Given the description of an element on the screen output the (x, y) to click on. 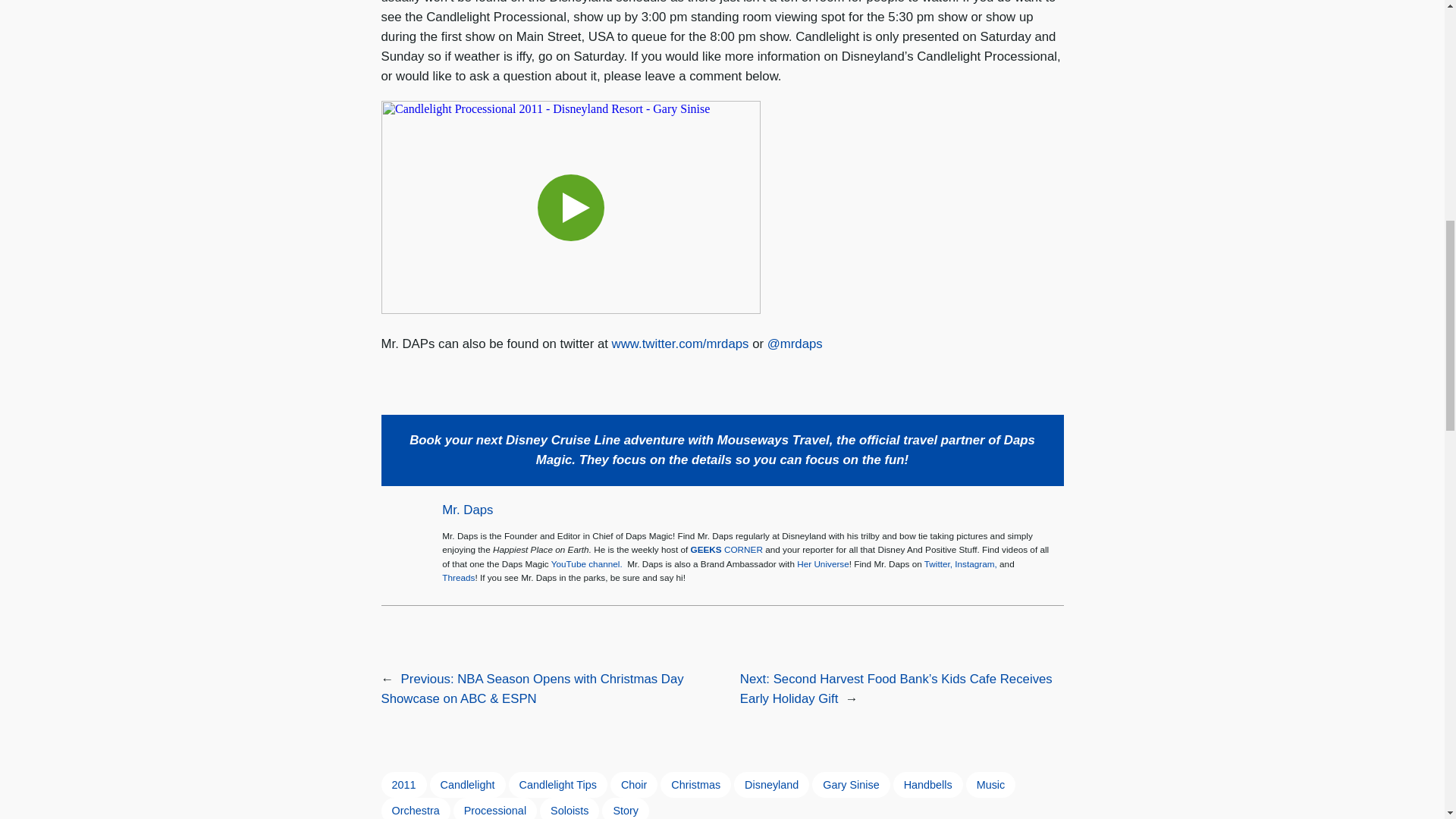
Candlelight Tips (557, 784)
Christmas (695, 784)
Candlelight (467, 784)
2011 (403, 784)
GEEKS CORNER (726, 549)
Processional (494, 808)
Choir (634, 784)
Orchestra (414, 808)
Soloists (569, 808)
